Given the description of an element on the screen output the (x, y) to click on. 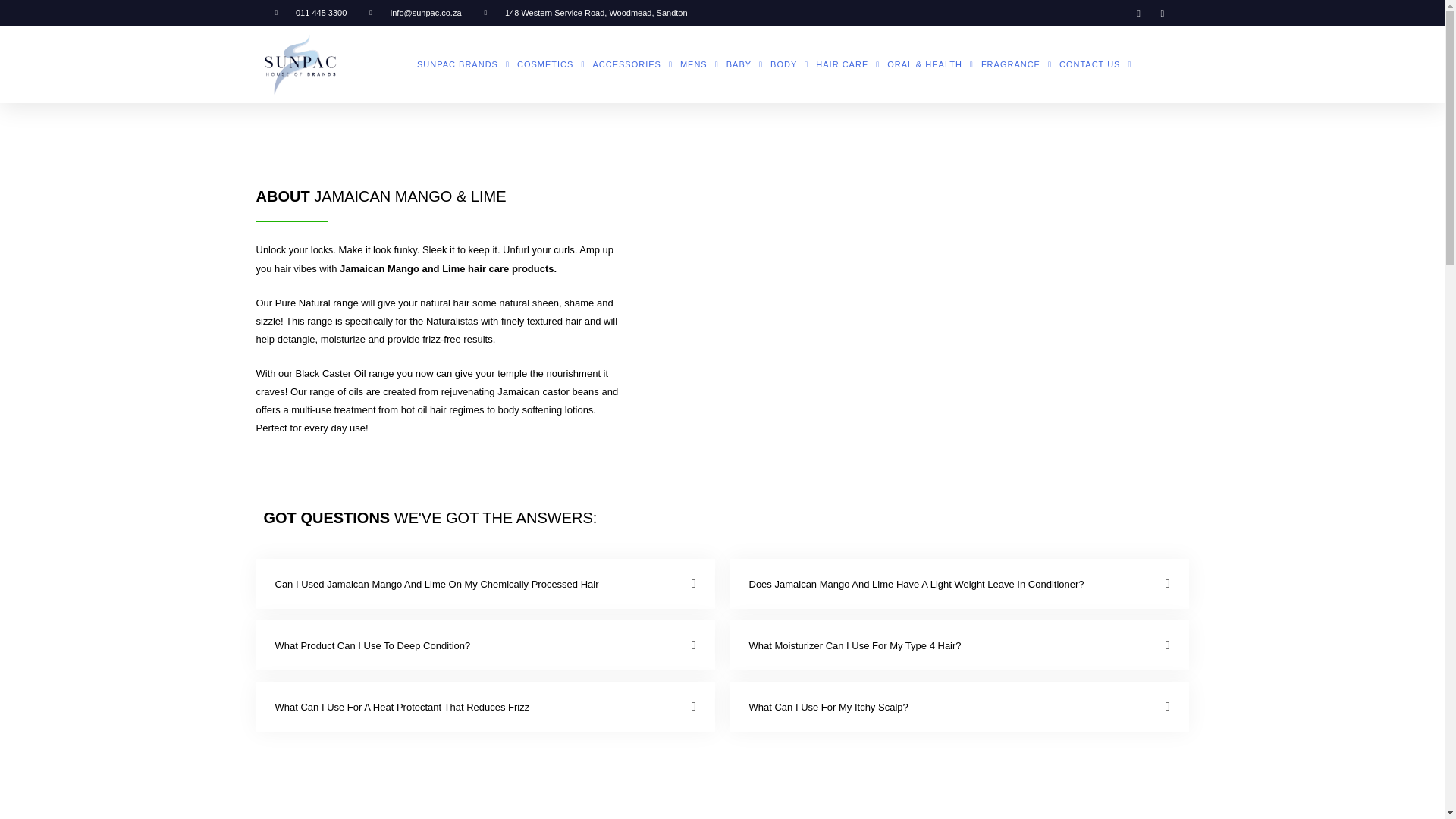
COSMETICS (550, 64)
SUNPAC BRANDS (463, 64)
MENS (699, 64)
ACCESSORIES (632, 64)
BABY (744, 64)
HAIR CARE (847, 64)
BODY (789, 64)
